Given the description of an element on the screen output the (x, y) to click on. 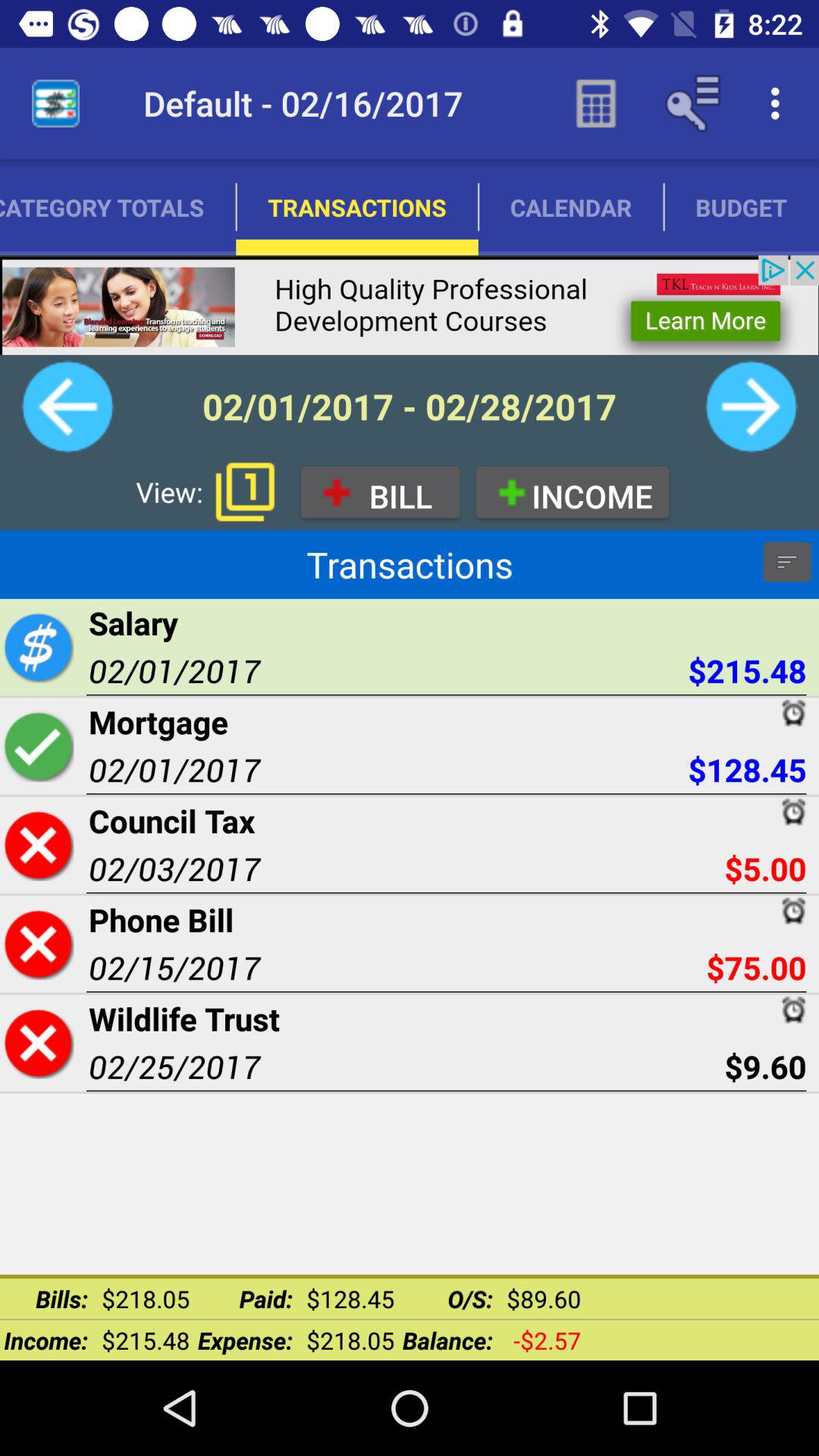
select the income button (572, 491)
